Given the description of an element on the screen output the (x, y) to click on. 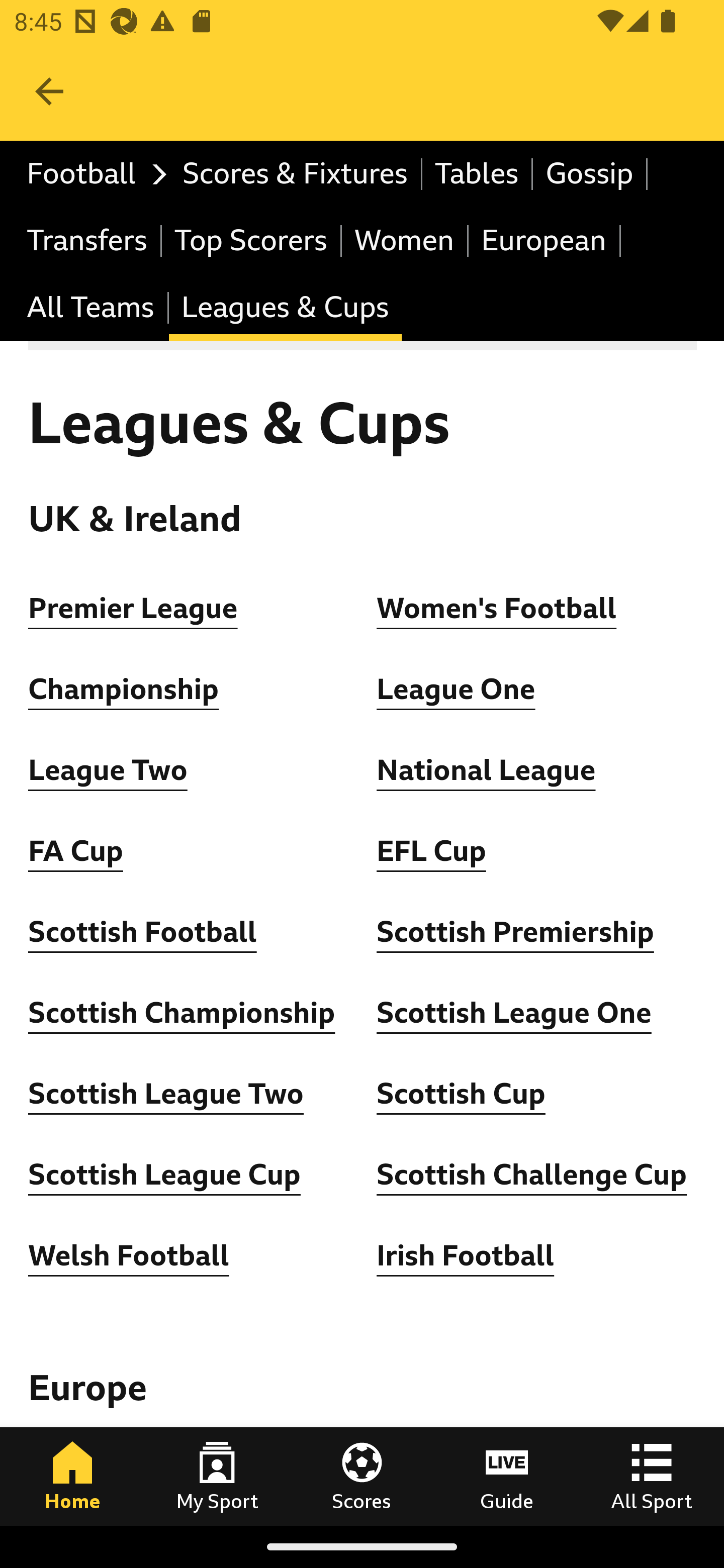
Navigate up (49, 91)
Football (91, 173)
Scores & Fixtures (295, 173)
Tables (477, 173)
Gossip (590, 173)
Transfers (88, 240)
Top Scorers (251, 240)
Women (405, 240)
European (544, 240)
All Teams (91, 308)
Leagues & Cups (284, 308)
Premier League (133, 608)
Women's Football (496, 608)
Championship (123, 689)
League One (456, 689)
League Two (108, 770)
National League (486, 770)
FA Cup (75, 851)
EFL Cup (431, 851)
Scottish Football (142, 932)
Scottish Premiership (515, 932)
Scottish Championship (181, 1012)
Scottish League One (514, 1012)
Scottish League Two (166, 1094)
Scottish Cup (460, 1094)
Scottish League Cup (164, 1175)
Scottish Challenge Cup (531, 1175)
Welsh Football (129, 1255)
Irish Football (466, 1255)
My Sport (216, 1475)
Scores (361, 1475)
Guide (506, 1475)
All Sport (651, 1475)
